Given the description of an element on the screen output the (x, y) to click on. 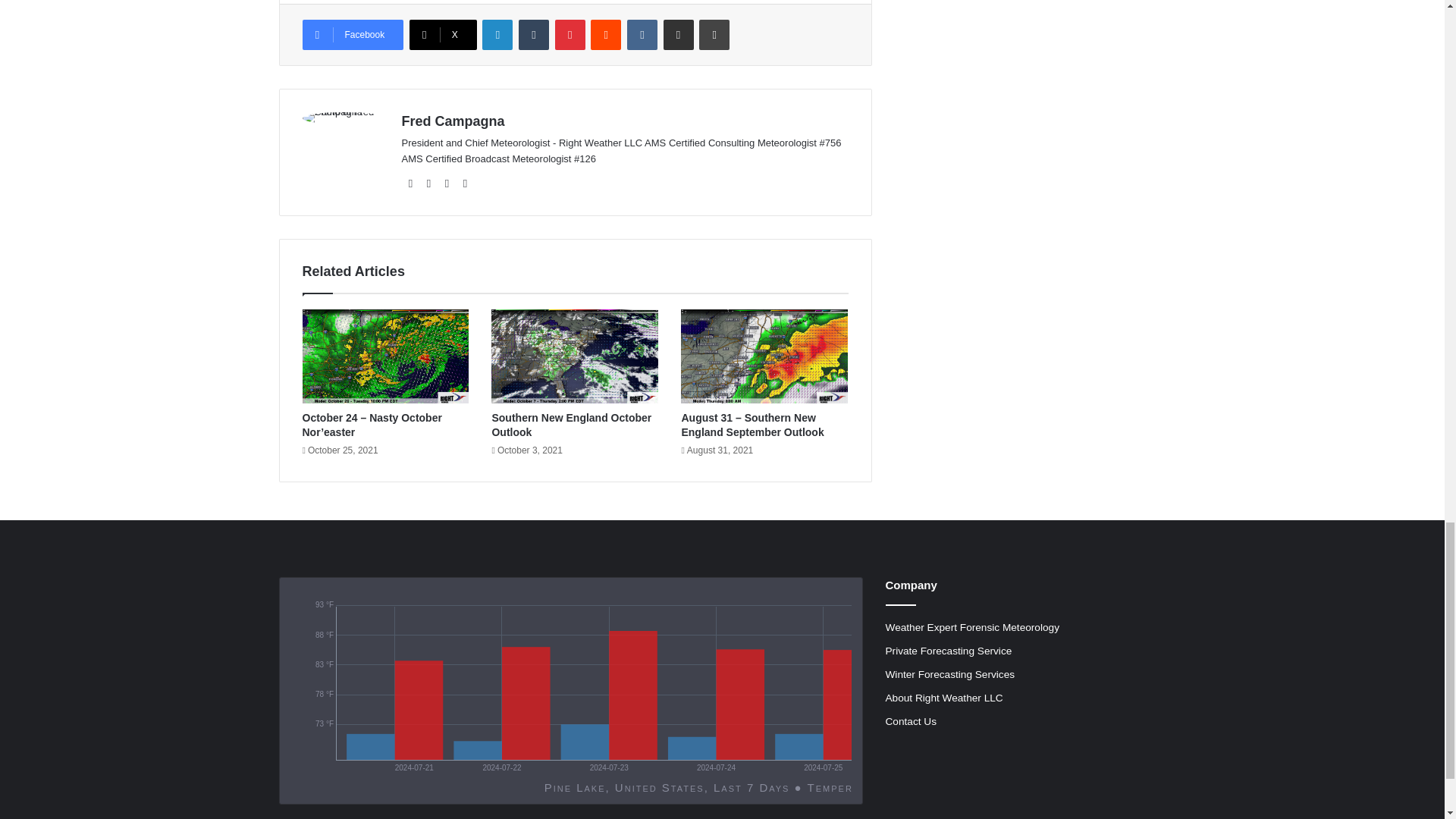
VKontakte (642, 34)
X (443, 34)
LinkedIn (496, 34)
Reddit (606, 34)
LinkedIn (496, 34)
Fred Campagna (453, 120)
Tumblr (533, 34)
Print (713, 34)
Tumblr (533, 34)
Pinterest (569, 34)
Pinterest (569, 34)
X (443, 34)
Facebook (352, 34)
Share via Email (678, 34)
Facebook (352, 34)
